Given the description of an element on the screen output the (x, y) to click on. 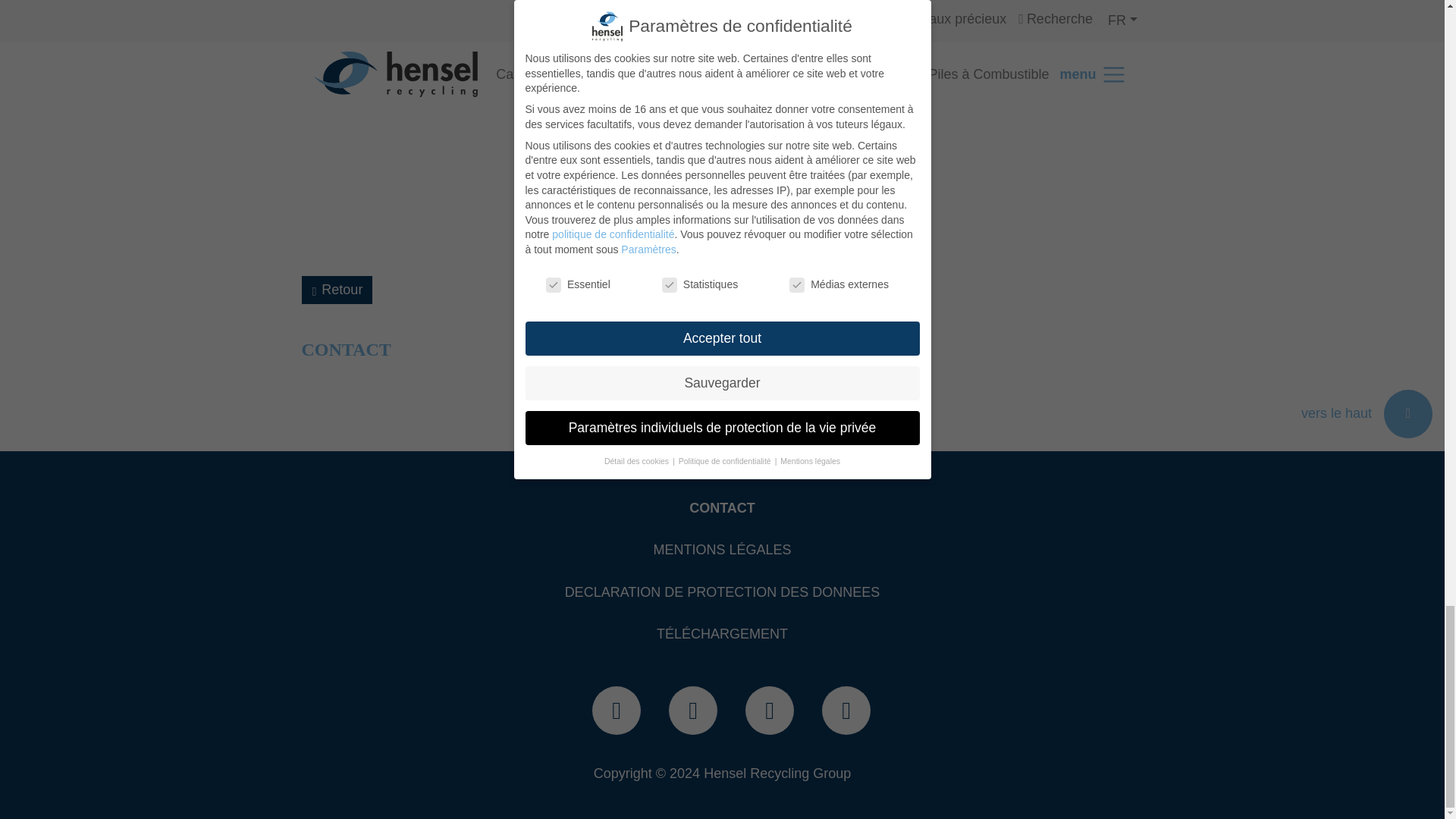
1 (664, 22)
